Given the description of an element on the screen output the (x, y) to click on. 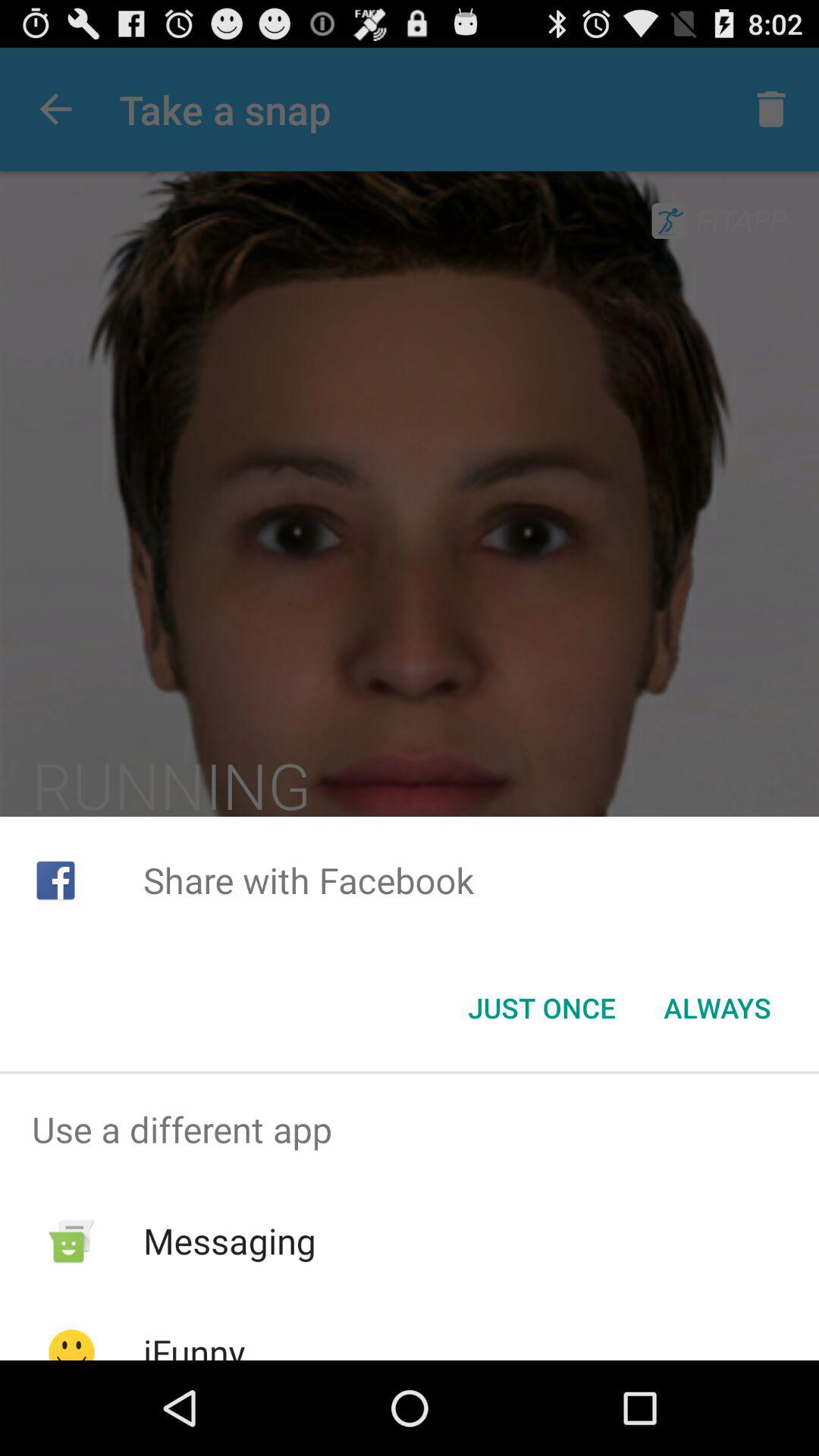
select the always (717, 1007)
